Given the description of an element on the screen output the (x, y) to click on. 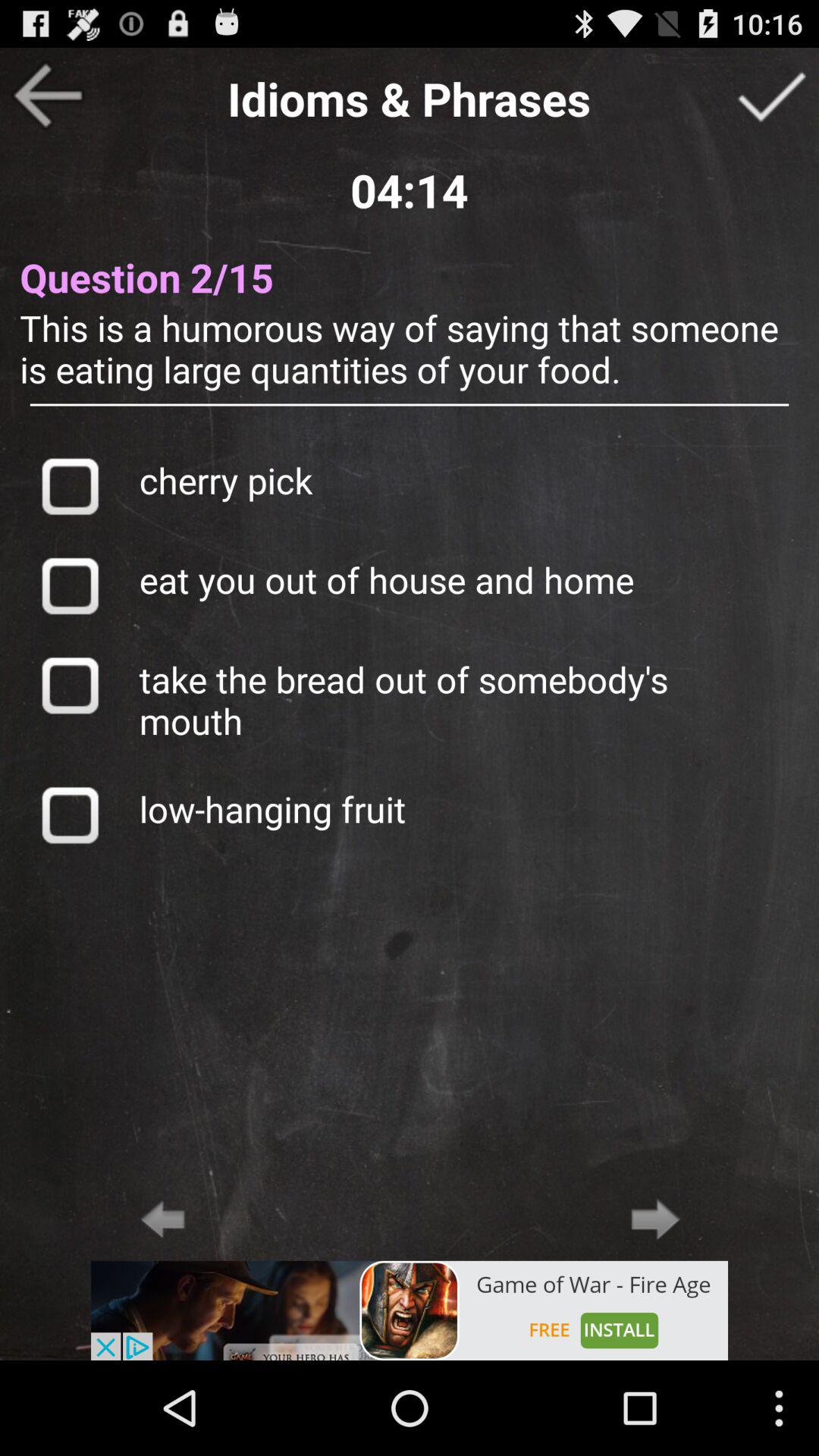
go to next page (655, 1218)
